Given the description of an element on the screen output the (x, y) to click on. 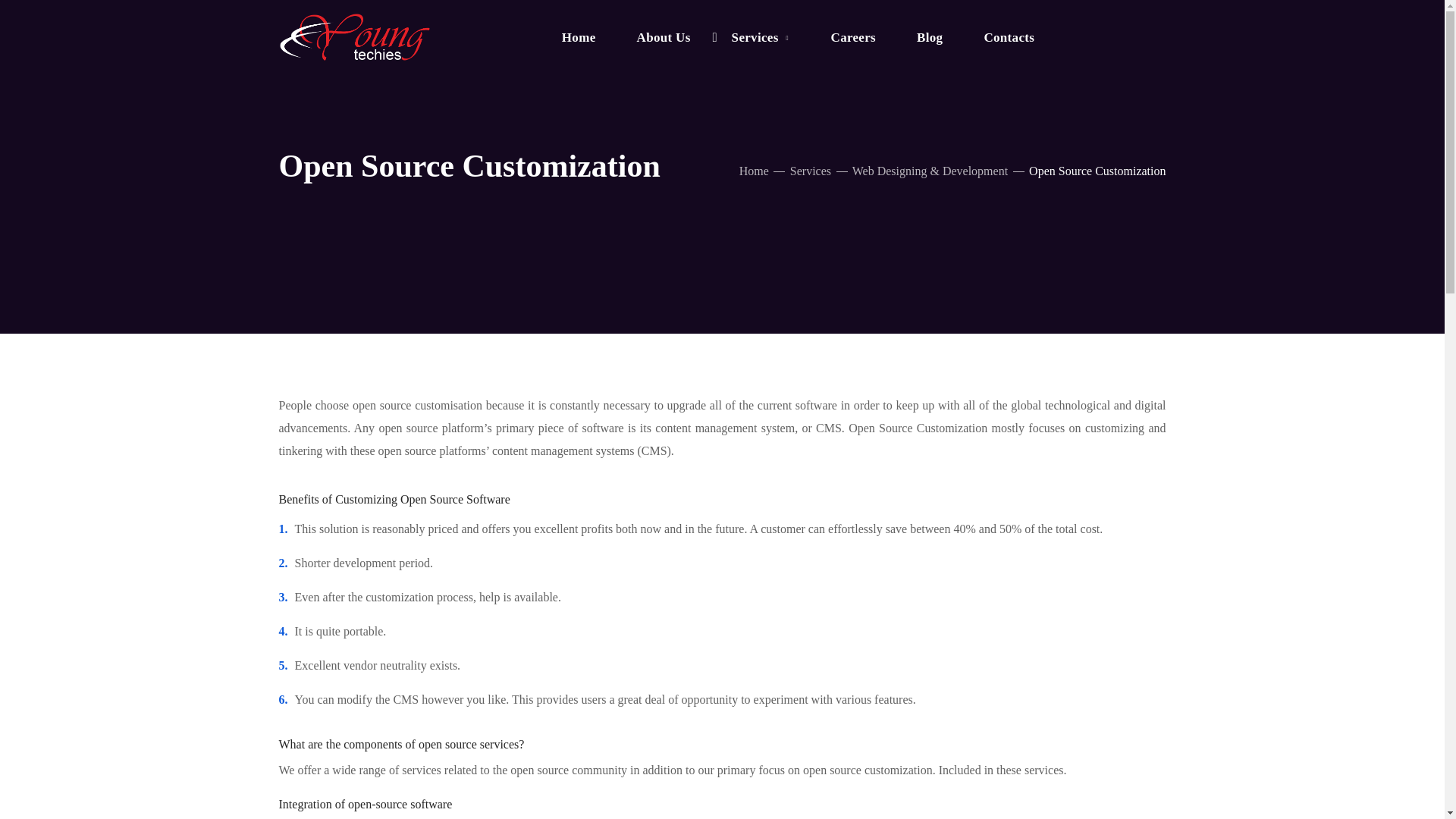
Services (760, 38)
About Us (663, 38)
Home (578, 38)
